Given the description of an element on the screen output the (x, y) to click on. 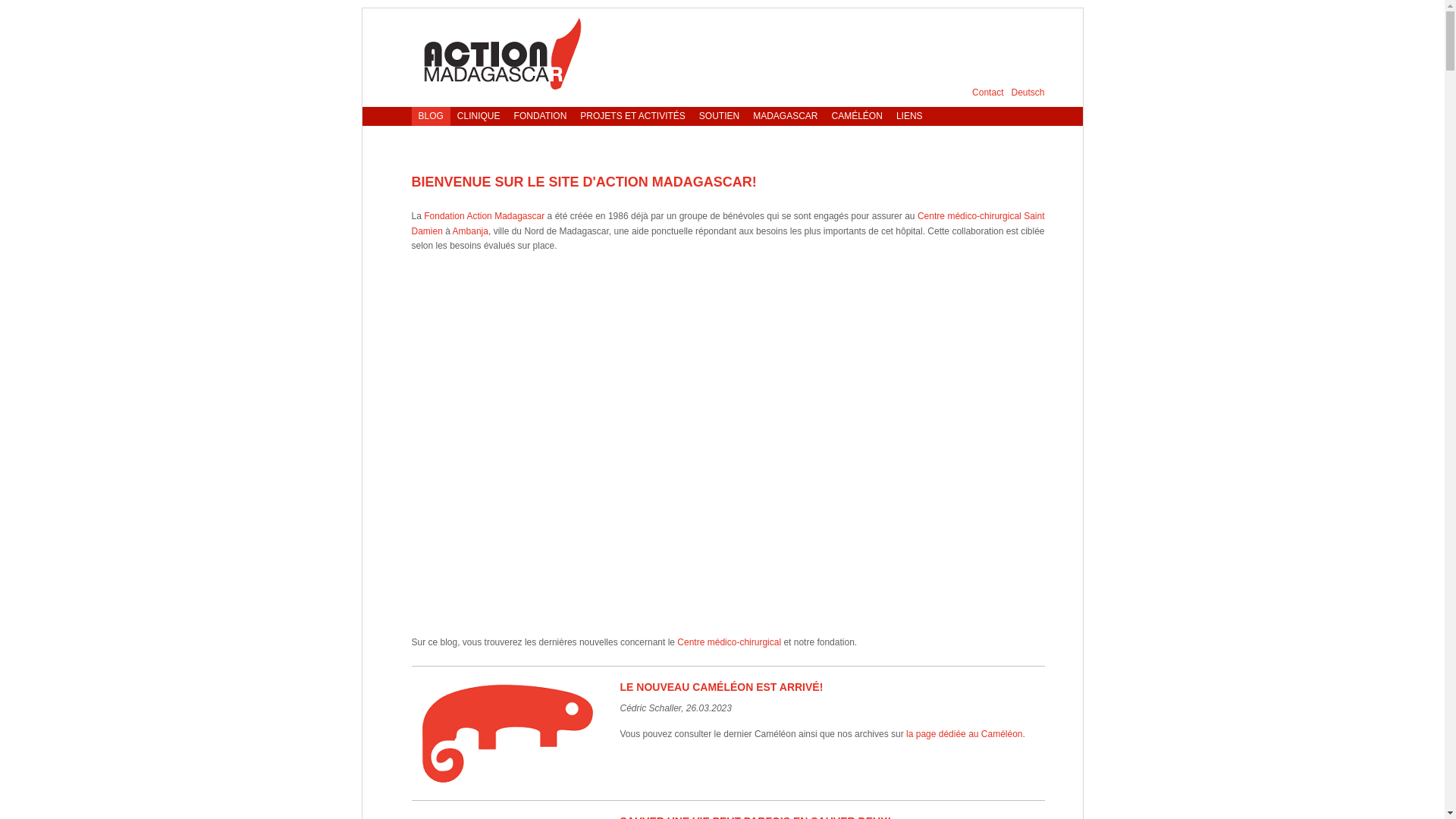
SOUTIEN Element type: text (719, 115)
Deutsch Element type: text (1027, 92)
Fondation Action Madagascar Element type: text (483, 215)
CLINIQUE Element type: text (478, 115)
BLOG Element type: text (430, 115)
Contact Element type: text (987, 92)
YouTube video player Element type: hover (727, 441)
FONDATION Element type: text (540, 115)
Ambanja Element type: text (470, 230)
LIENS Element type: text (909, 115)
MADAGASCAR Element type: text (785, 115)
